Given the description of an element on the screen output the (x, y) to click on. 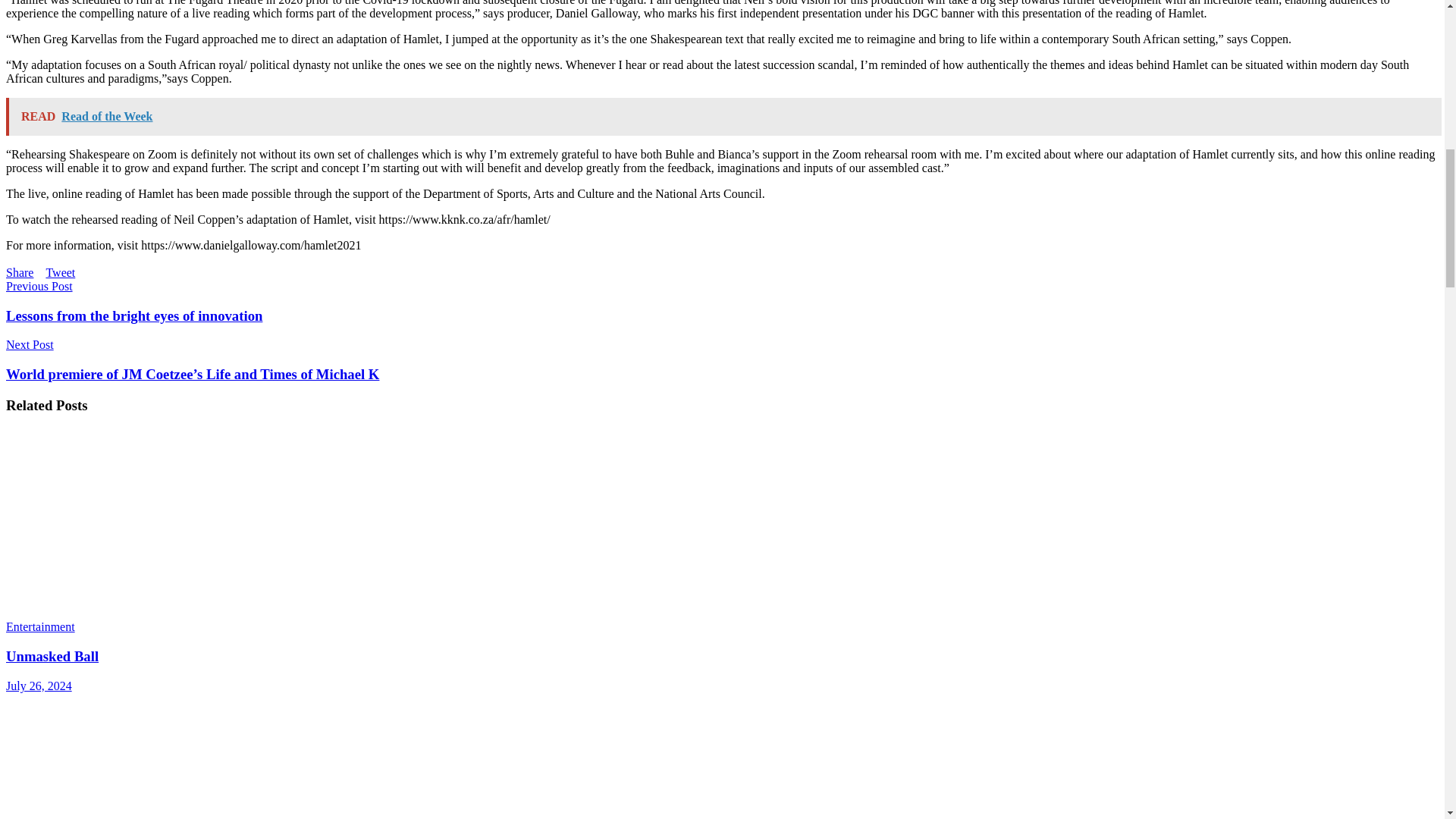
Share (19, 272)
